Given the description of an element on the screen output the (x, y) to click on. 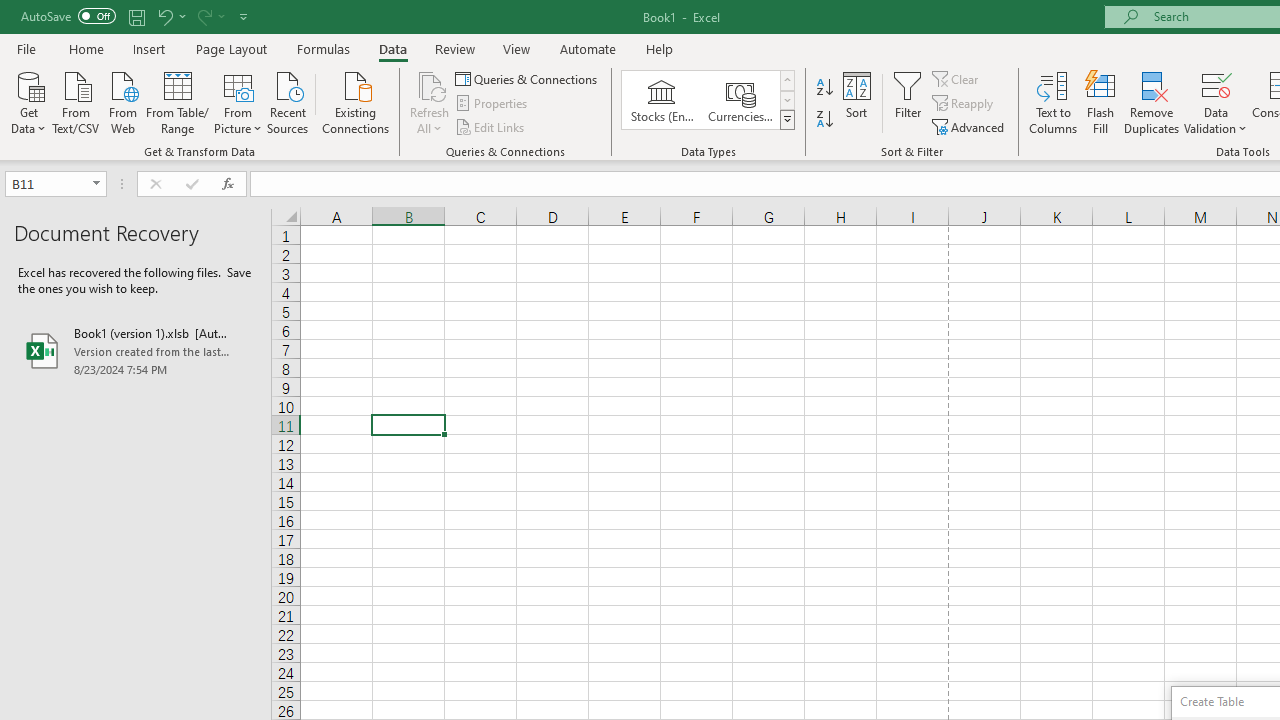
Sort Z to A (824, 119)
